Given the description of an element on the screen output the (x, y) to click on. 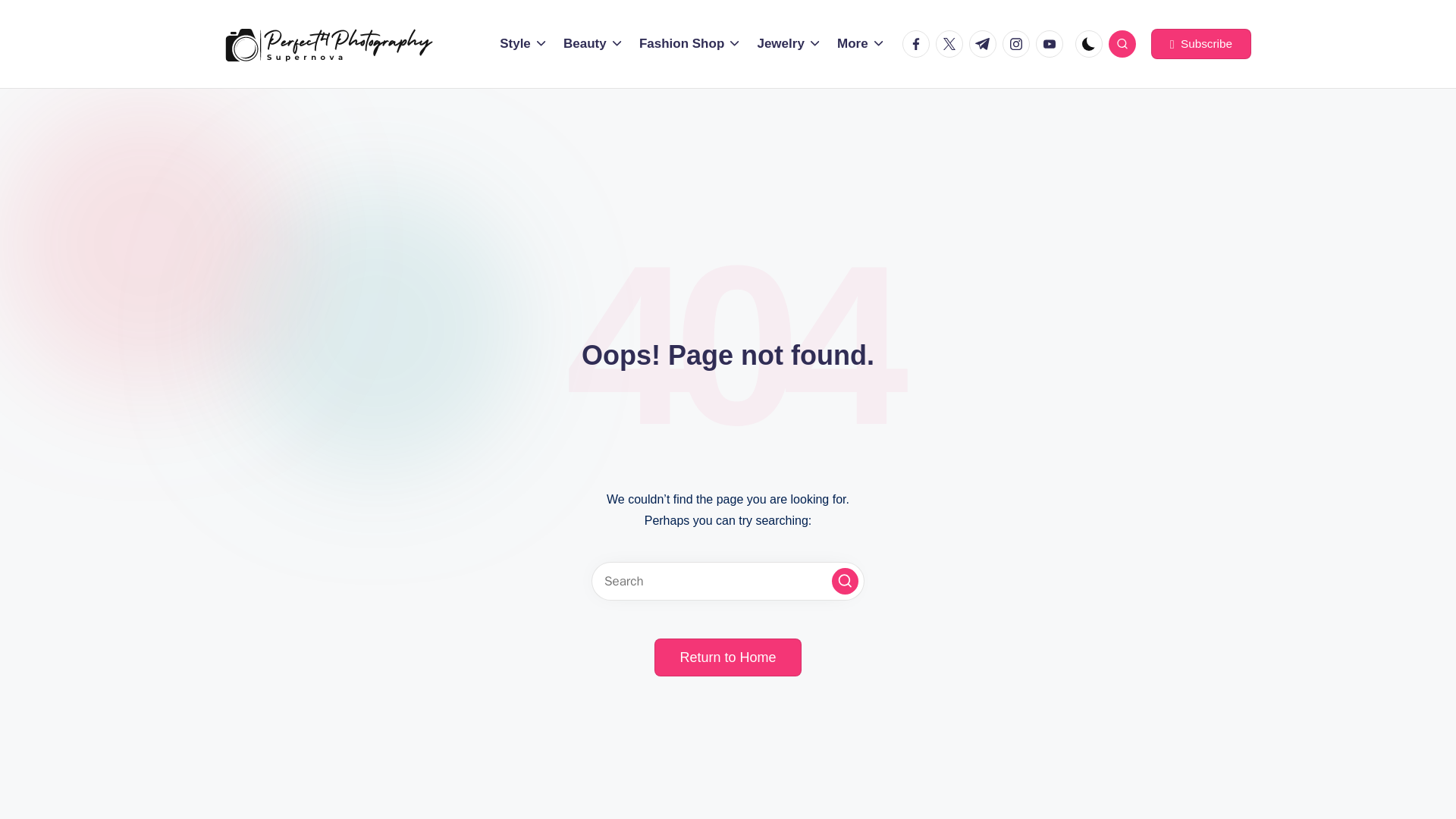
Style (523, 43)
Jewelry (789, 43)
More (861, 43)
Fashion Shop (690, 43)
Beauty (593, 43)
